Given the description of an element on the screen output the (x, y) to click on. 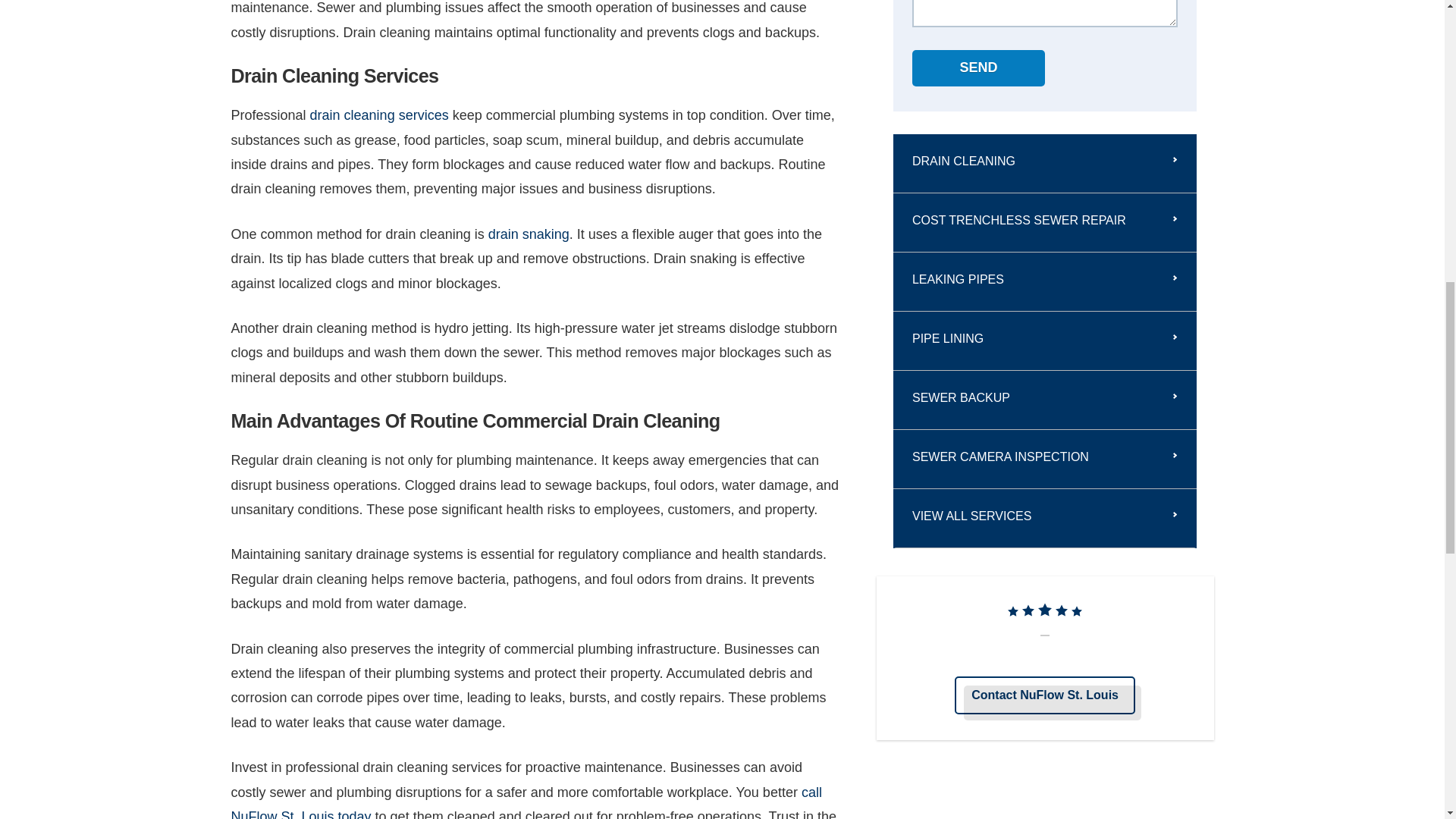
Send (978, 67)
